Given the description of an element on the screen output the (x, y) to click on. 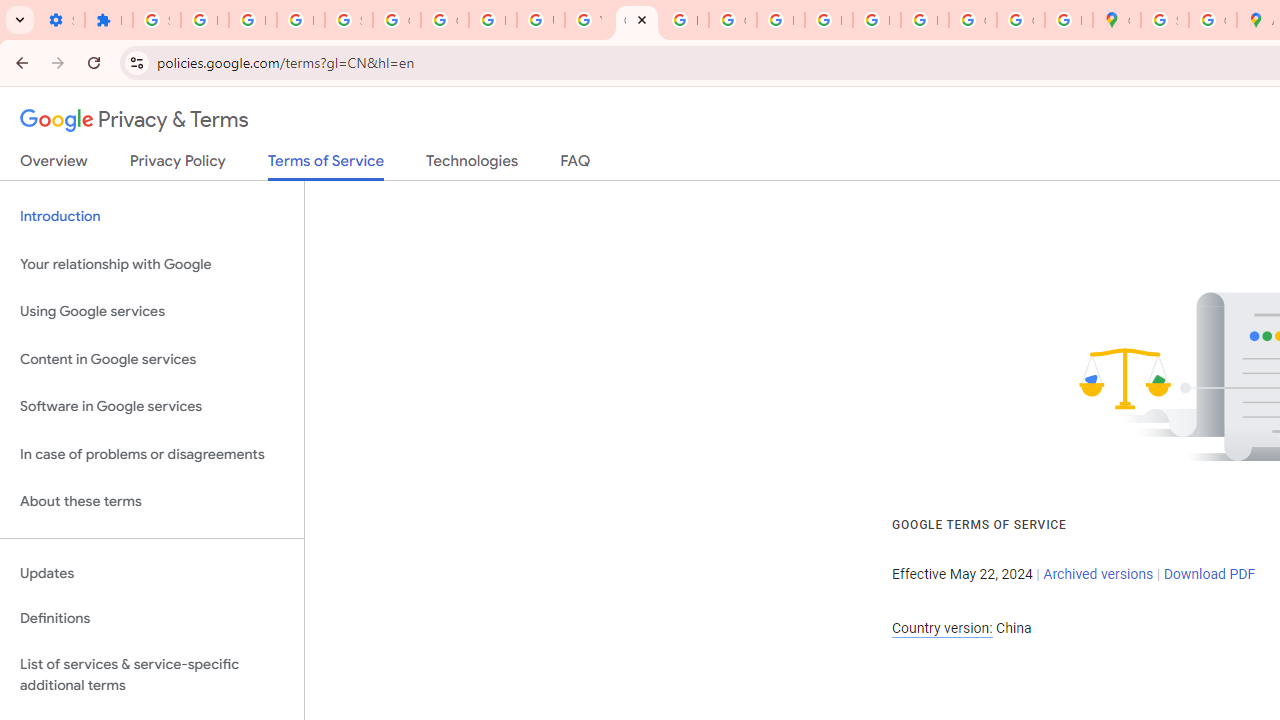
List of services & service-specific additional terms (152, 674)
Privacy Help Center - Policies Help (780, 20)
Settings - On startup (60, 20)
Definitions (152, 619)
